Given the description of an element on the screen output the (x, y) to click on. 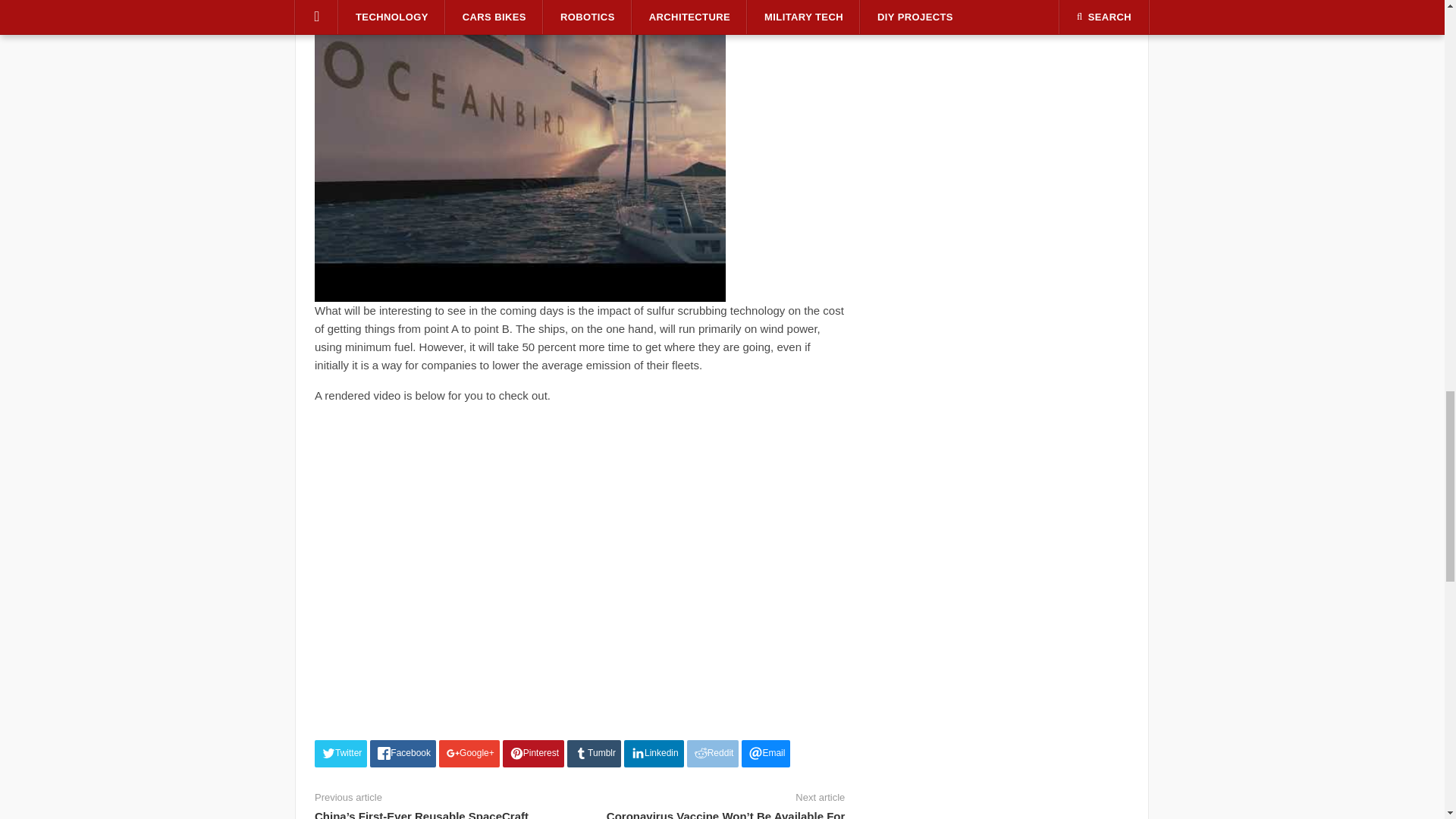
Tumblr (594, 753)
Facebook (402, 753)
Email (765, 753)
Reddit (713, 753)
Twitter (340, 753)
Pinterest (533, 753)
Linkedin (654, 753)
